Given the description of an element on the screen output the (x, y) to click on. 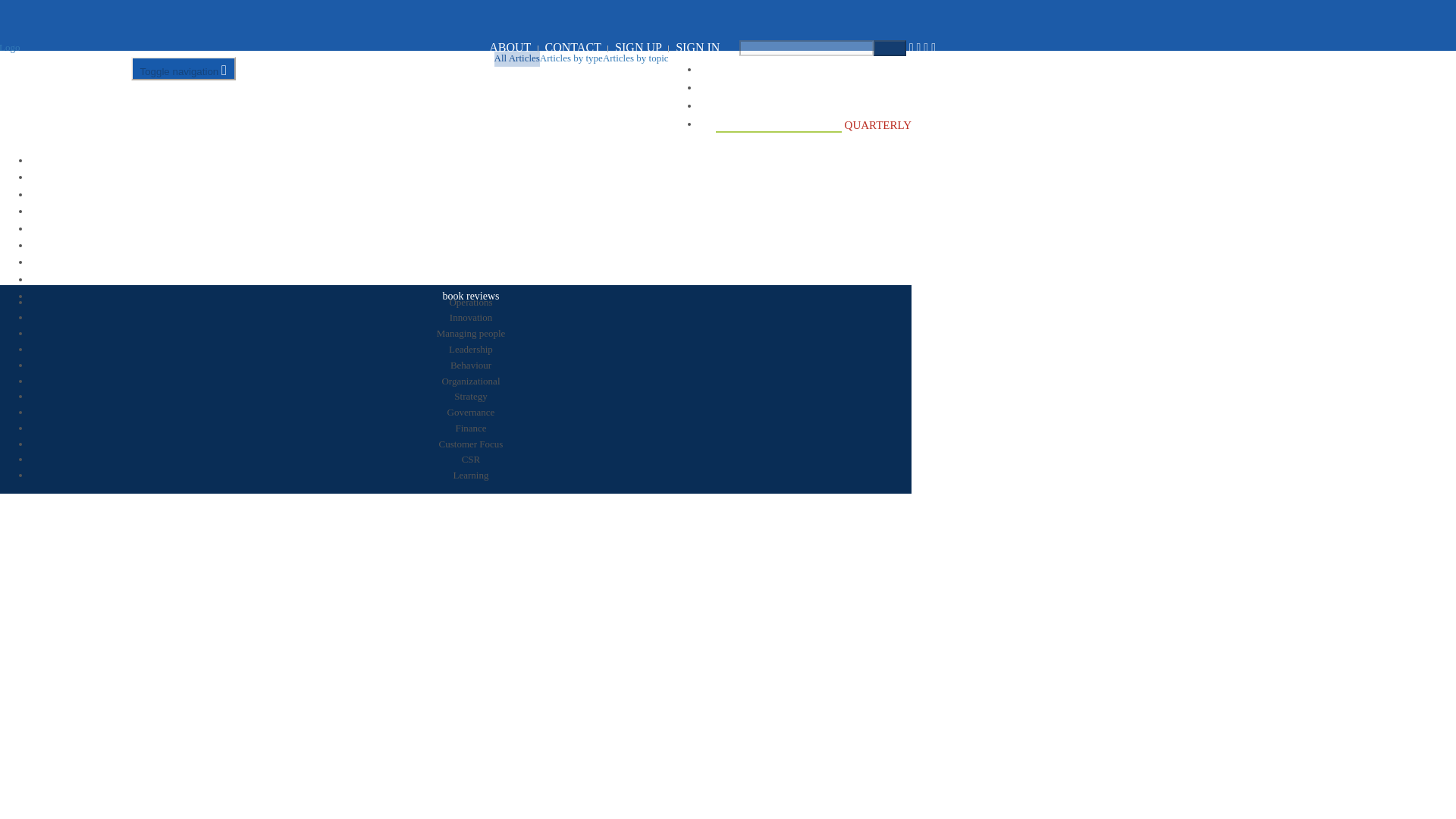
CONTACT (572, 47)
ABOUT (510, 47)
SIGN IN (697, 47)
SIGN UP (638, 47)
